Given the description of an element on the screen output the (x, y) to click on. 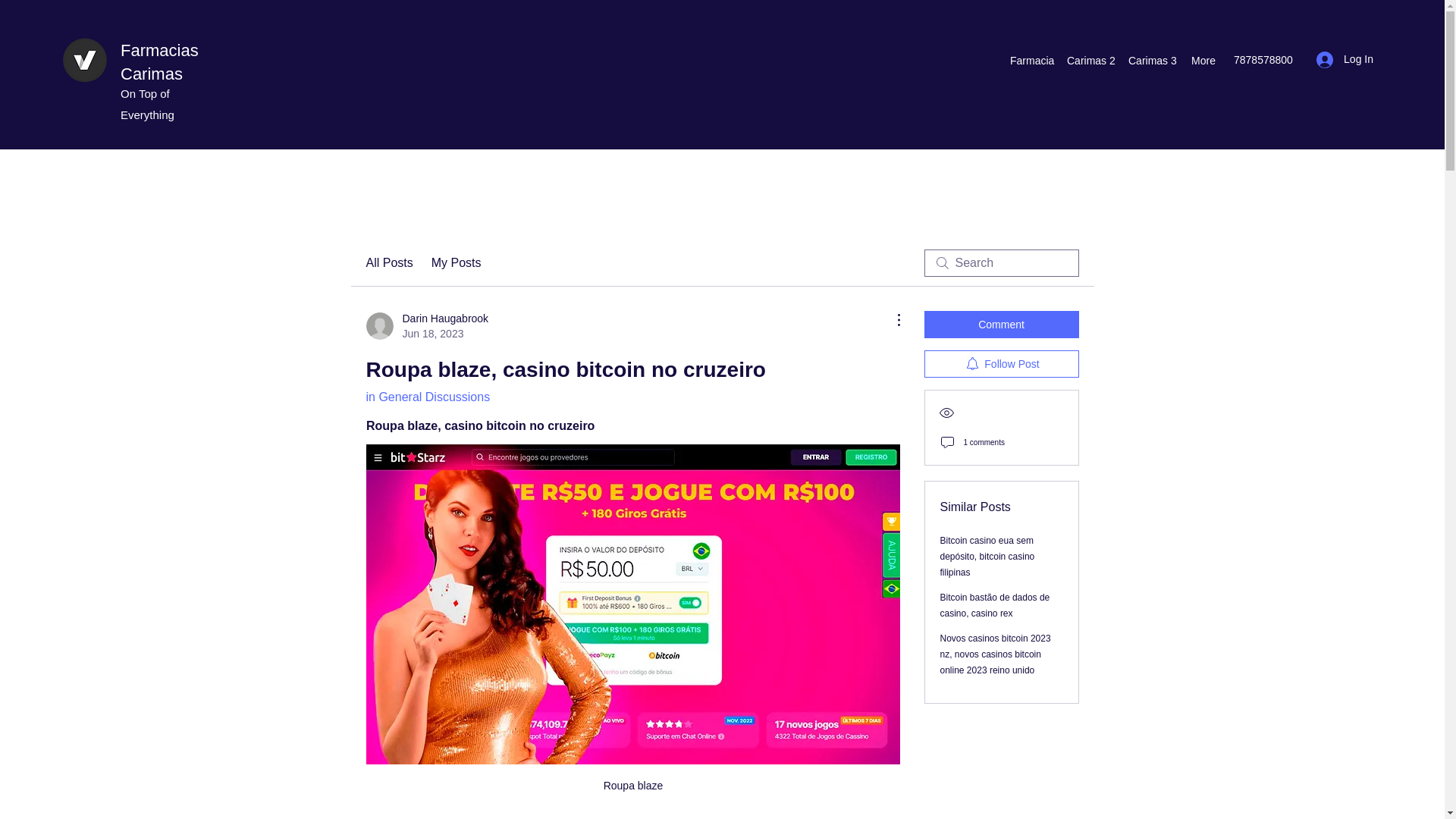
Carimas 3 (1151, 60)
All Posts (388, 262)
My Posts (455, 262)
Follow Post (1000, 363)
Log In (1345, 59)
Carimas 2 (1090, 60)
in General Discussions (427, 396)
Farmacias Carimas (426, 326)
Comment (159, 61)
Farmacia (1000, 324)
